Given the description of an element on the screen output the (x, y) to click on. 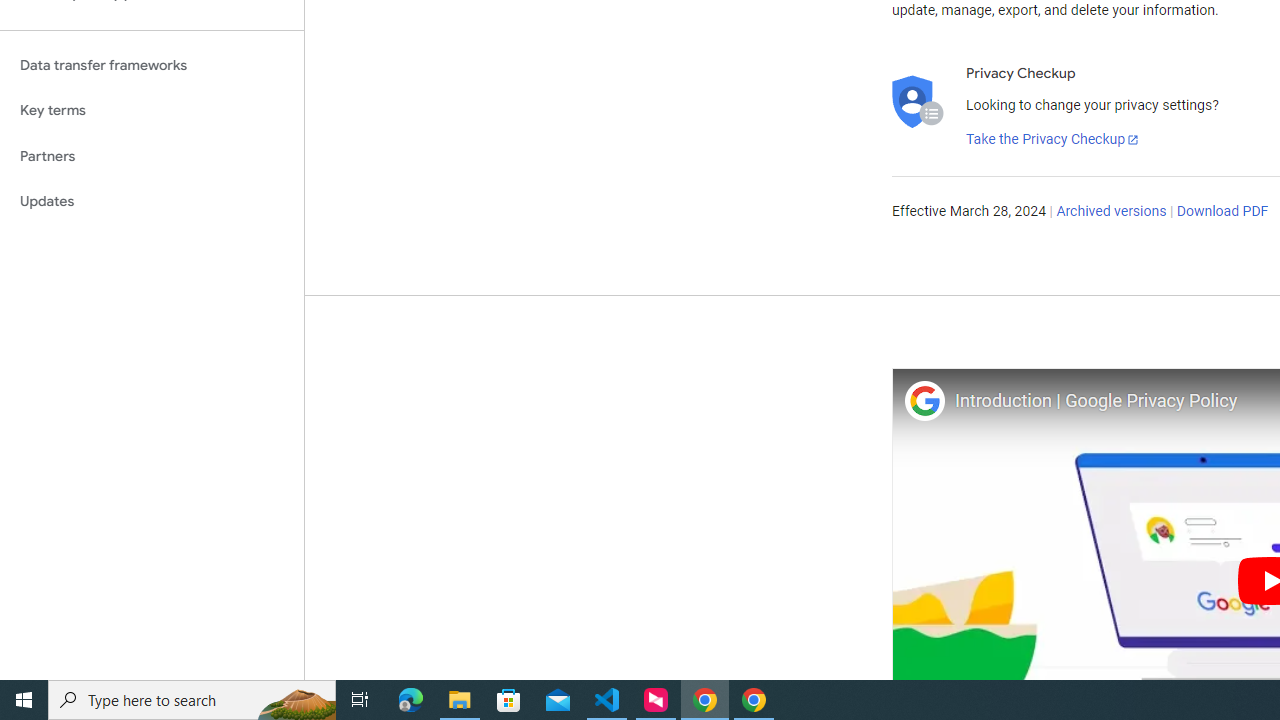
Take the Privacy Checkup (1053, 140)
Photo image of Google (924, 400)
